Given the description of an element on the screen output the (x, y) to click on. 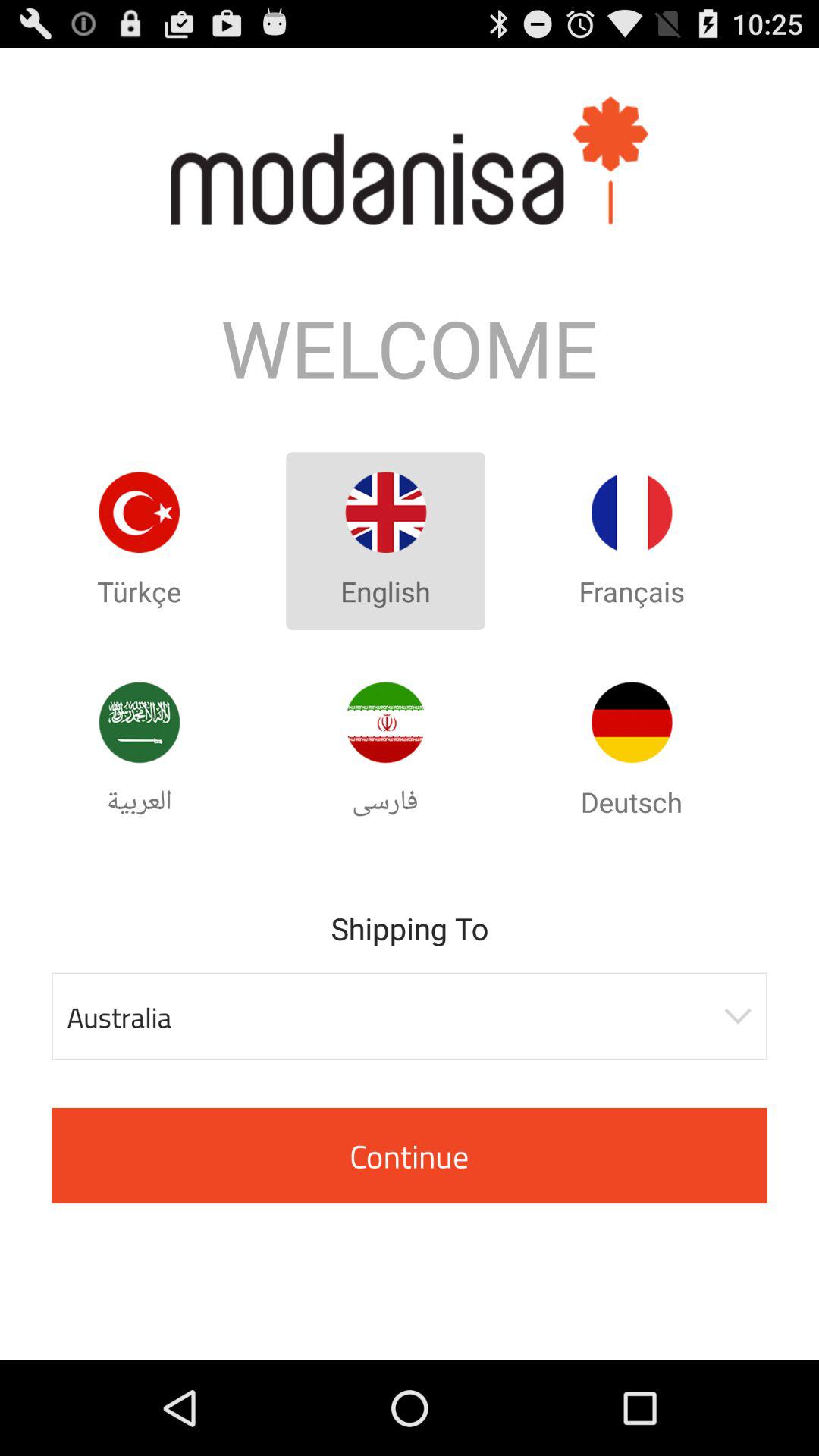
select australia item (409, 1016)
